Given the description of an element on the screen output the (x, y) to click on. 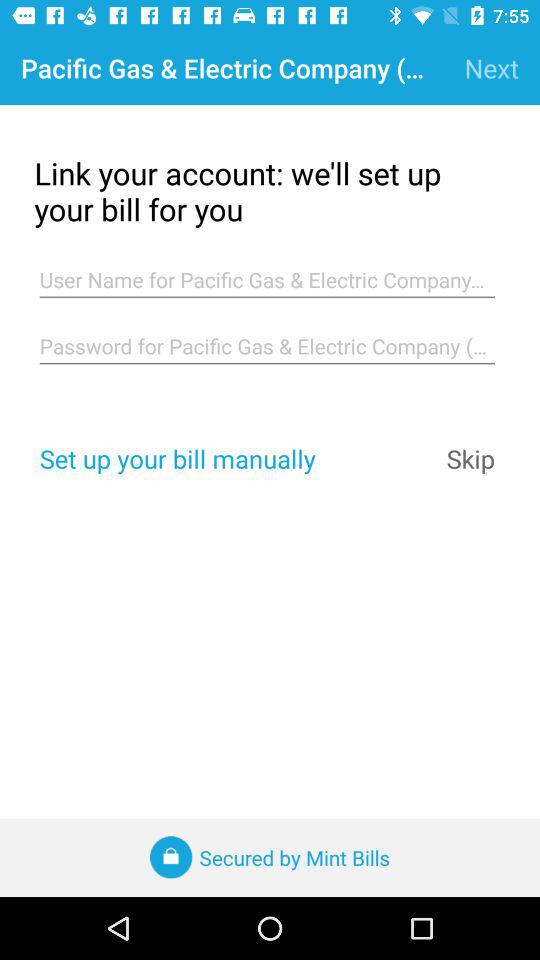
press icon on the right (470, 458)
